Given the description of an element on the screen output the (x, y) to click on. 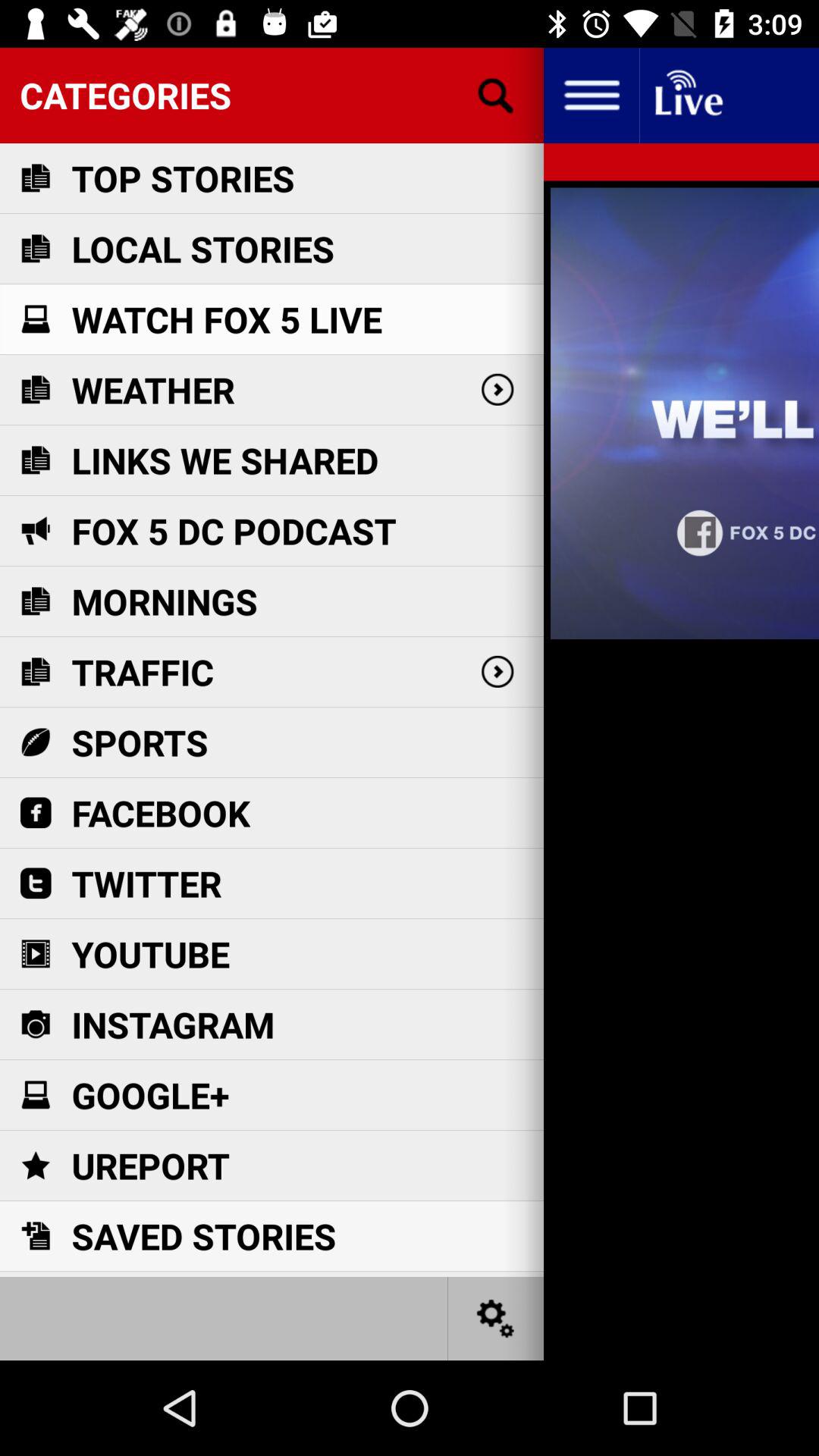
live stream button (687, 95)
